Given the description of an element on the screen output the (x, y) to click on. 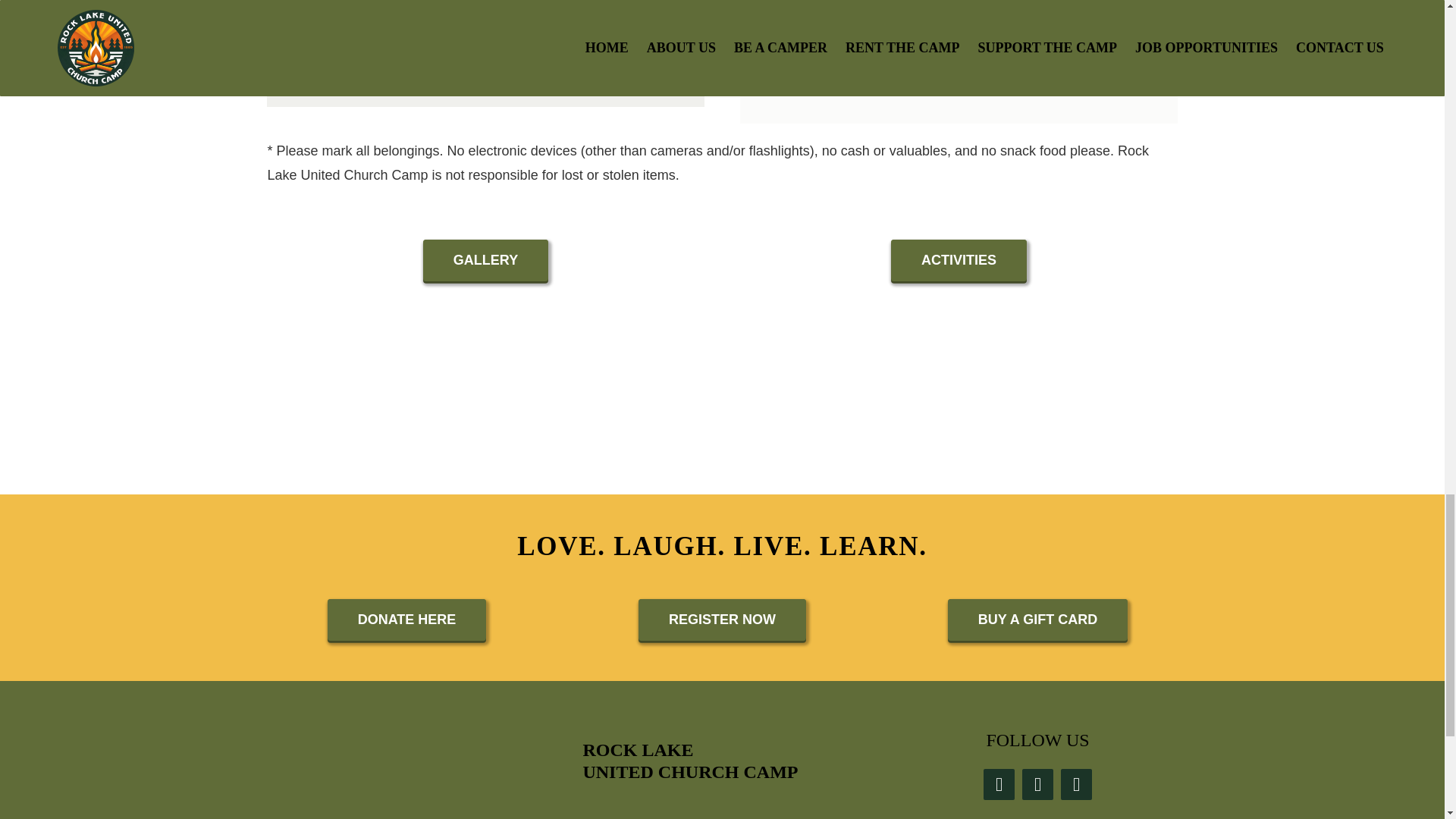
YouTube (1076, 784)
GALLERY (485, 260)
DONATE HERE (406, 619)
Facebook (999, 784)
BUY A GIFT CARD (1036, 619)
ACTIVITIES (958, 260)
REGISTER NOW (722, 619)
Instagram (1037, 784)
